Given the description of an element on the screen output the (x, y) to click on. 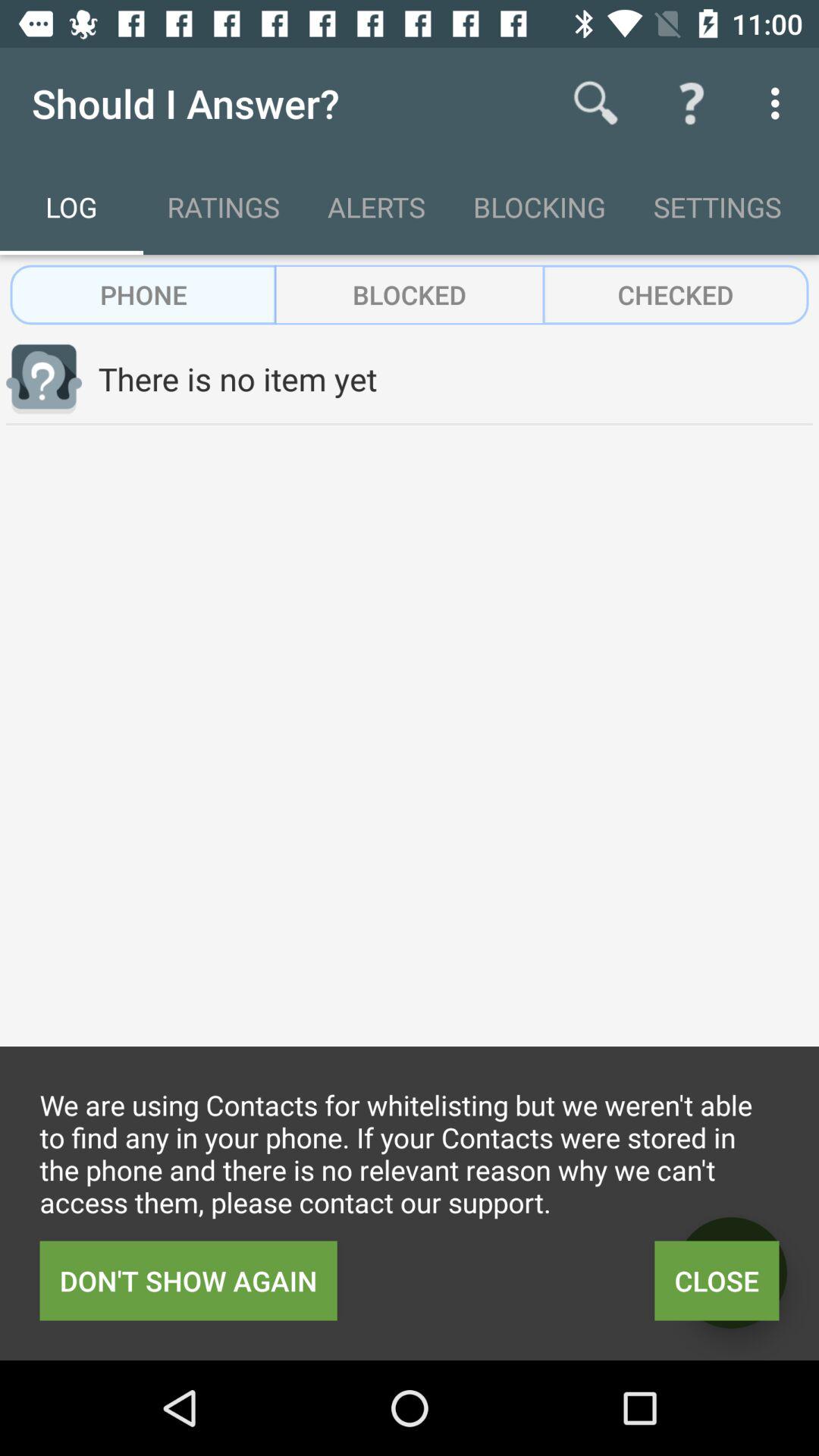
open checked item (675, 294)
